Given the description of an element on the screen output the (x, y) to click on. 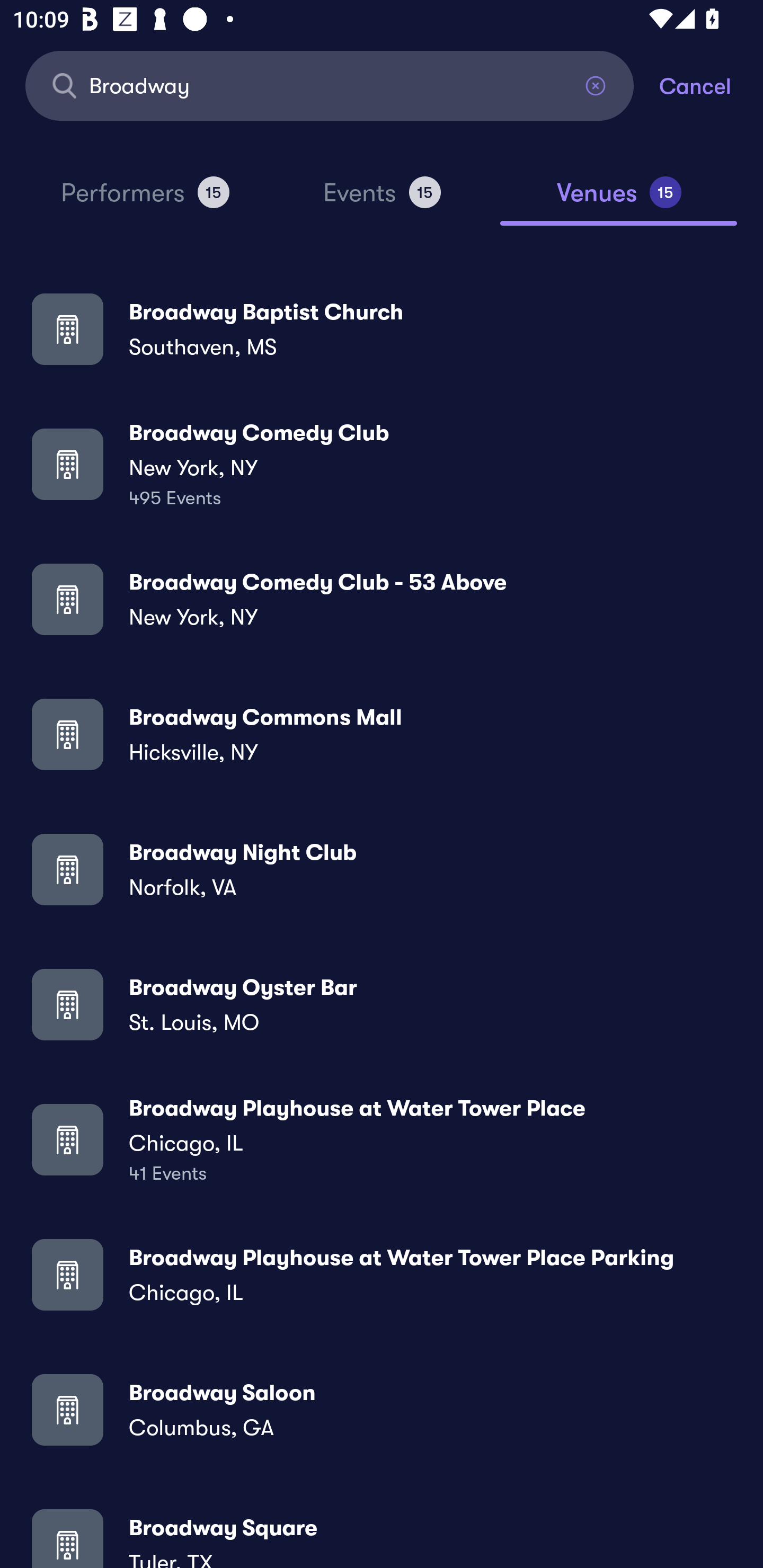
Broadway Find (329, 85)
Broadway Find (329, 85)
Cancel (711, 85)
Performers 15 (144, 200)
Events 15 (381, 200)
Venues 15 (618, 200)
Broadway Baptist Church Southaven, MS (381, 328)
Broadway Comedy Club New York, NY 495 Events (381, 464)
Broadway Comedy Club - 53 Above New York, NY (381, 598)
Broadway Commons Mall Hicksville, NY (381, 734)
Broadway Night Club Norfolk, VA (381, 869)
Broadway Oyster Bar St. Louis, MO (381, 1004)
Broadway Saloon Columbus, GA (381, 1409)
Broadway Square Tyler, TX (381, 1532)
